Given the description of an element on the screen output the (x, y) to click on. 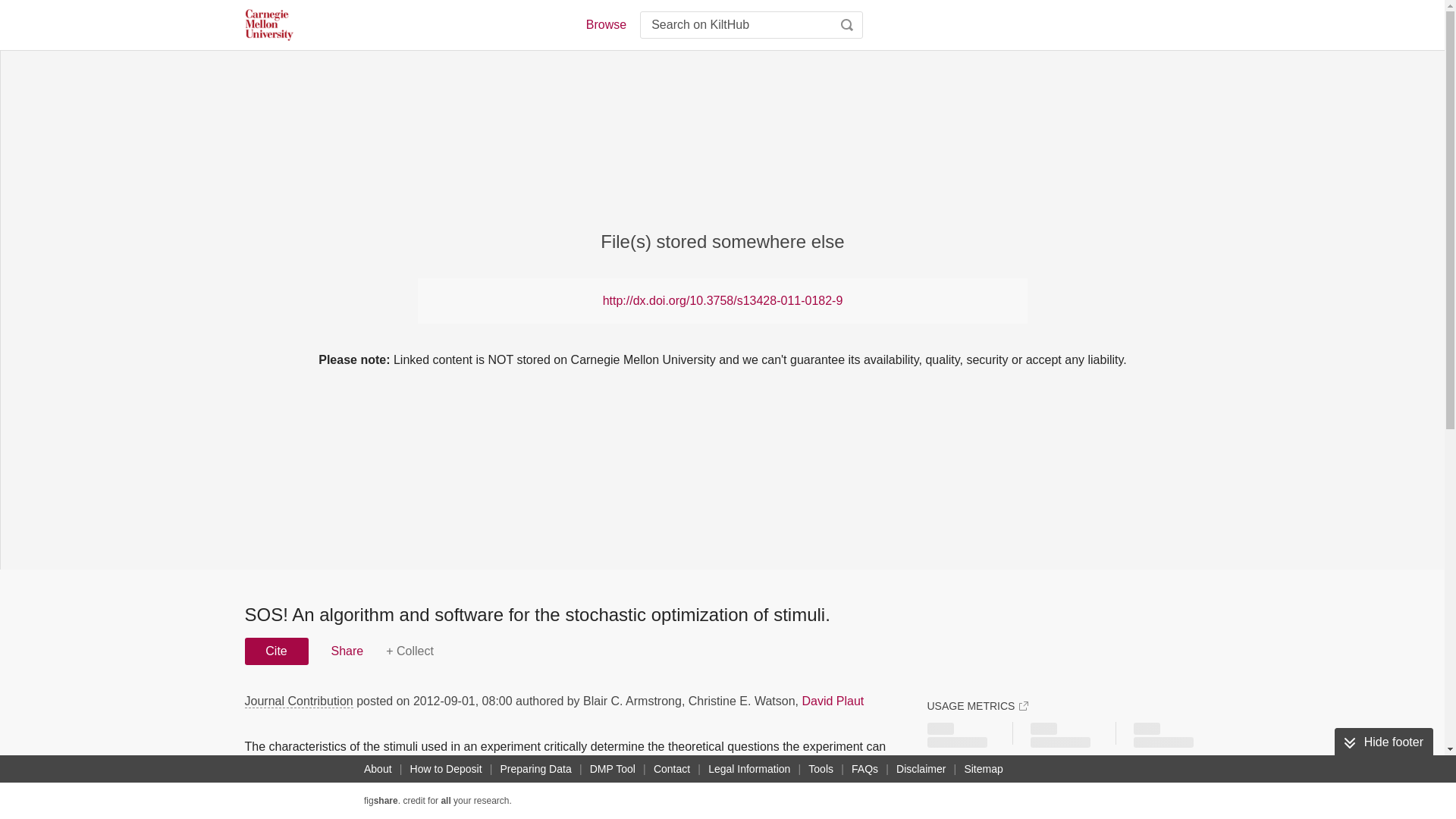
David Plaut (832, 700)
DMP Tool (612, 769)
Cite (275, 651)
you need to log in first (409, 651)
Tools (820, 769)
Contact (671, 769)
USAGE METRICS (976, 705)
About (377, 769)
FAQs (864, 769)
How to Deposit (446, 769)
